Given the description of an element on the screen output the (x, y) to click on. 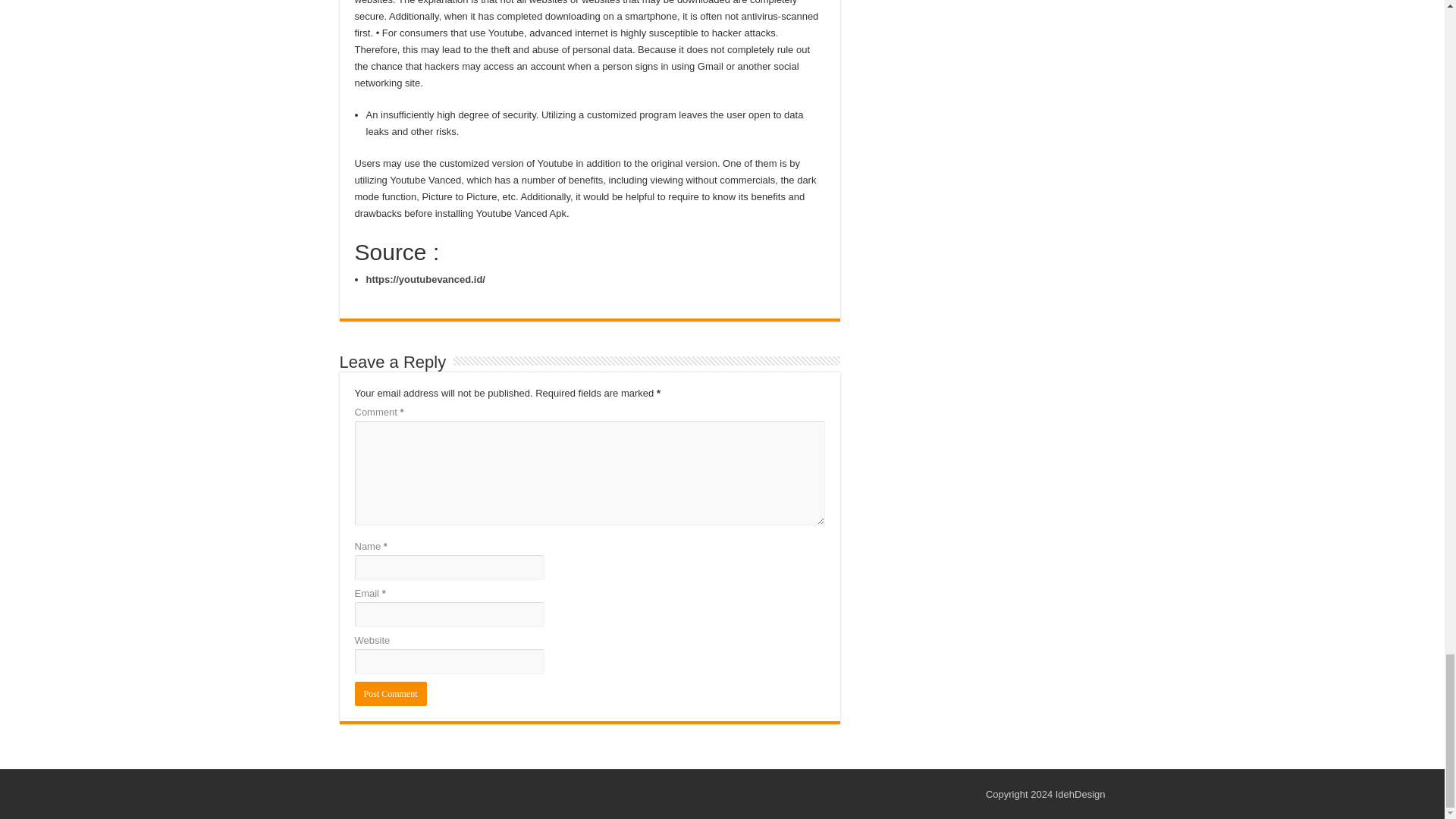
IdehDesign (1080, 794)
Post Comment (390, 693)
Post Comment (390, 693)
